Given the description of an element on the screen output the (x, y) to click on. 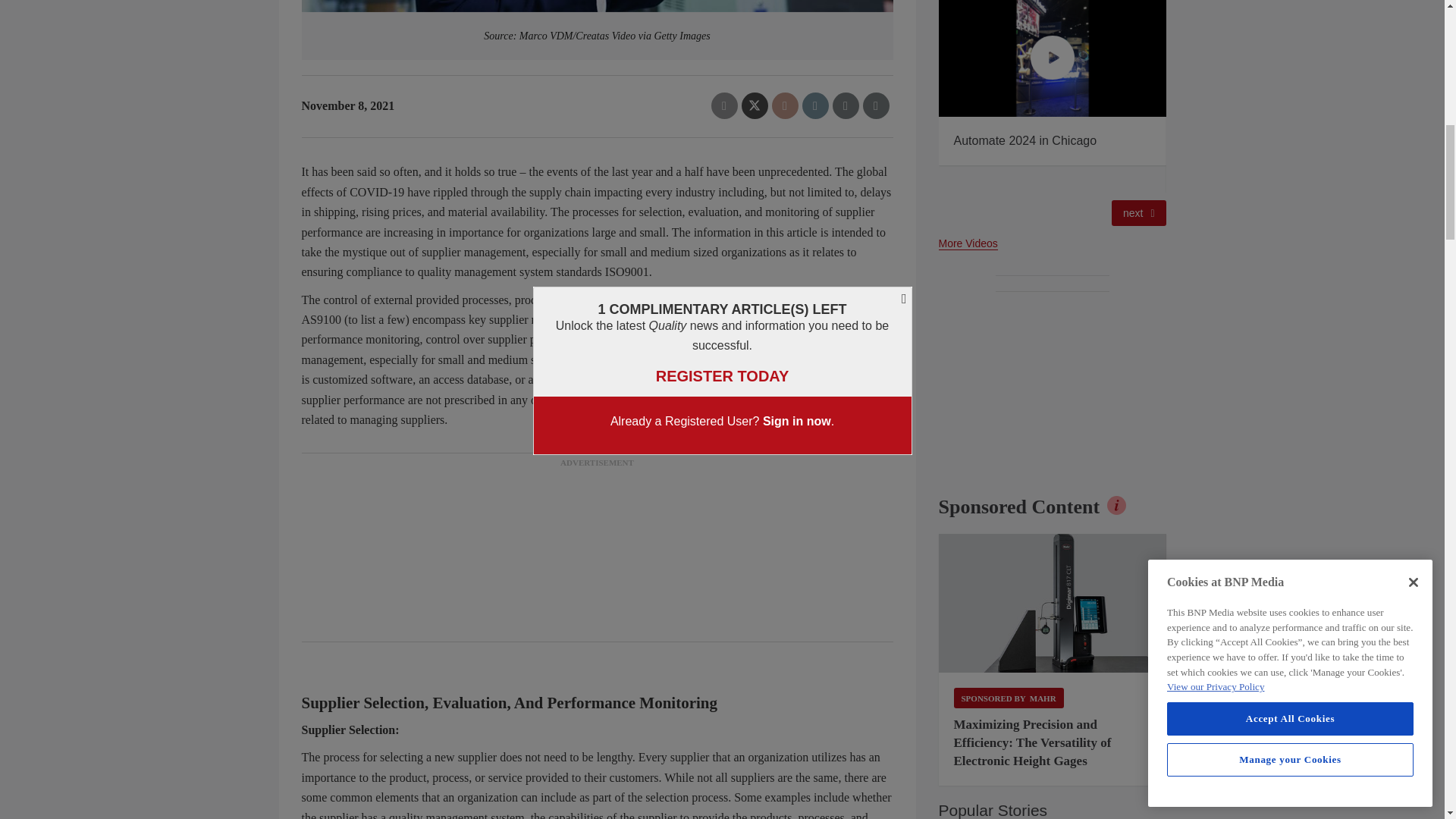
Sponsored by Mahr (1008, 697)
Automate 2024 in Chicago (1052, 58)
Digimar 817-CLT 4429601 with grey background (1052, 603)
